Given the description of an element on the screen output the (x, y) to click on. 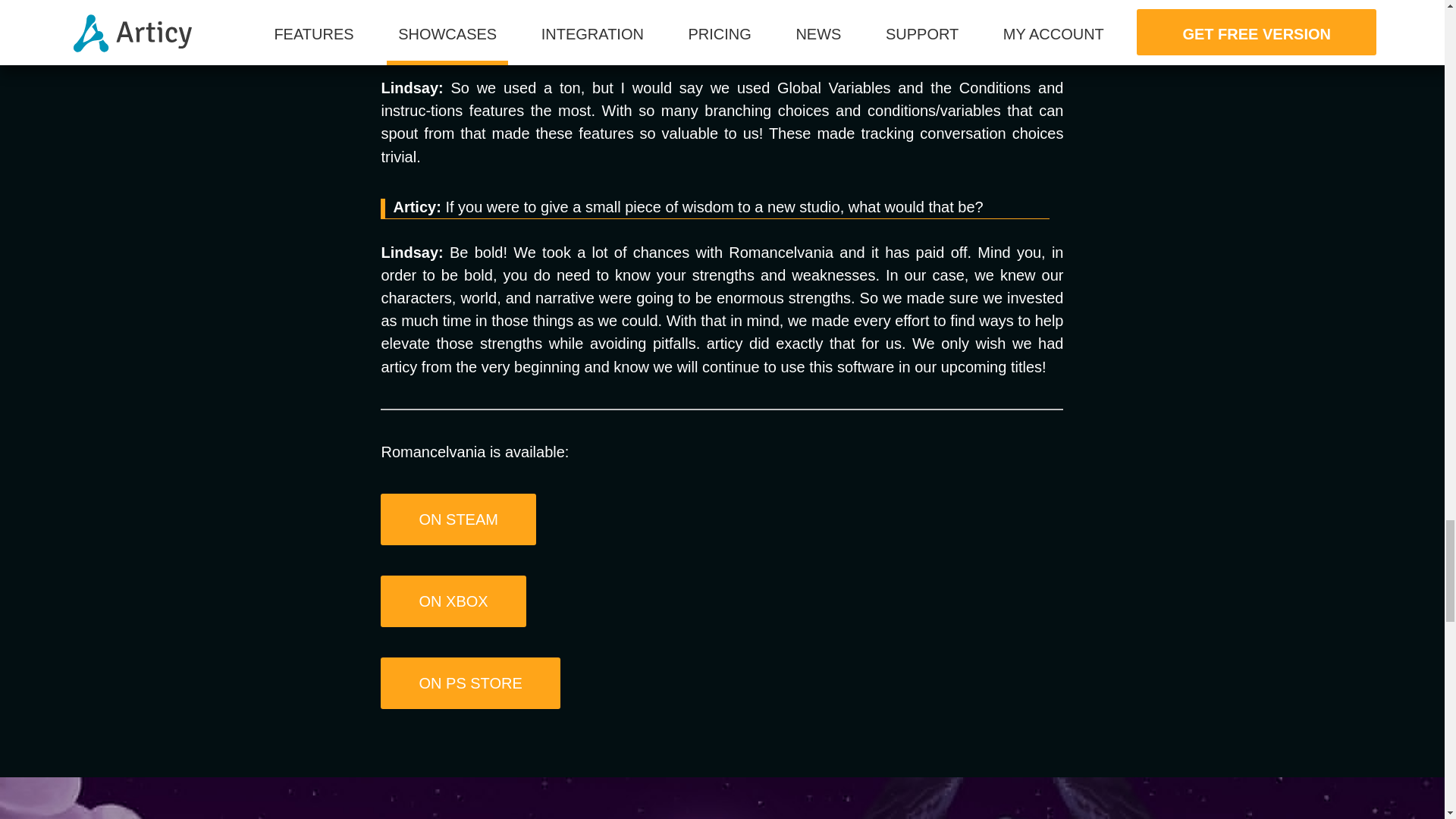
ON STEAM (457, 519)
ON PS STORE (469, 683)
ON XBOX (452, 601)
